Given the description of an element on the screen output the (x, y) to click on. 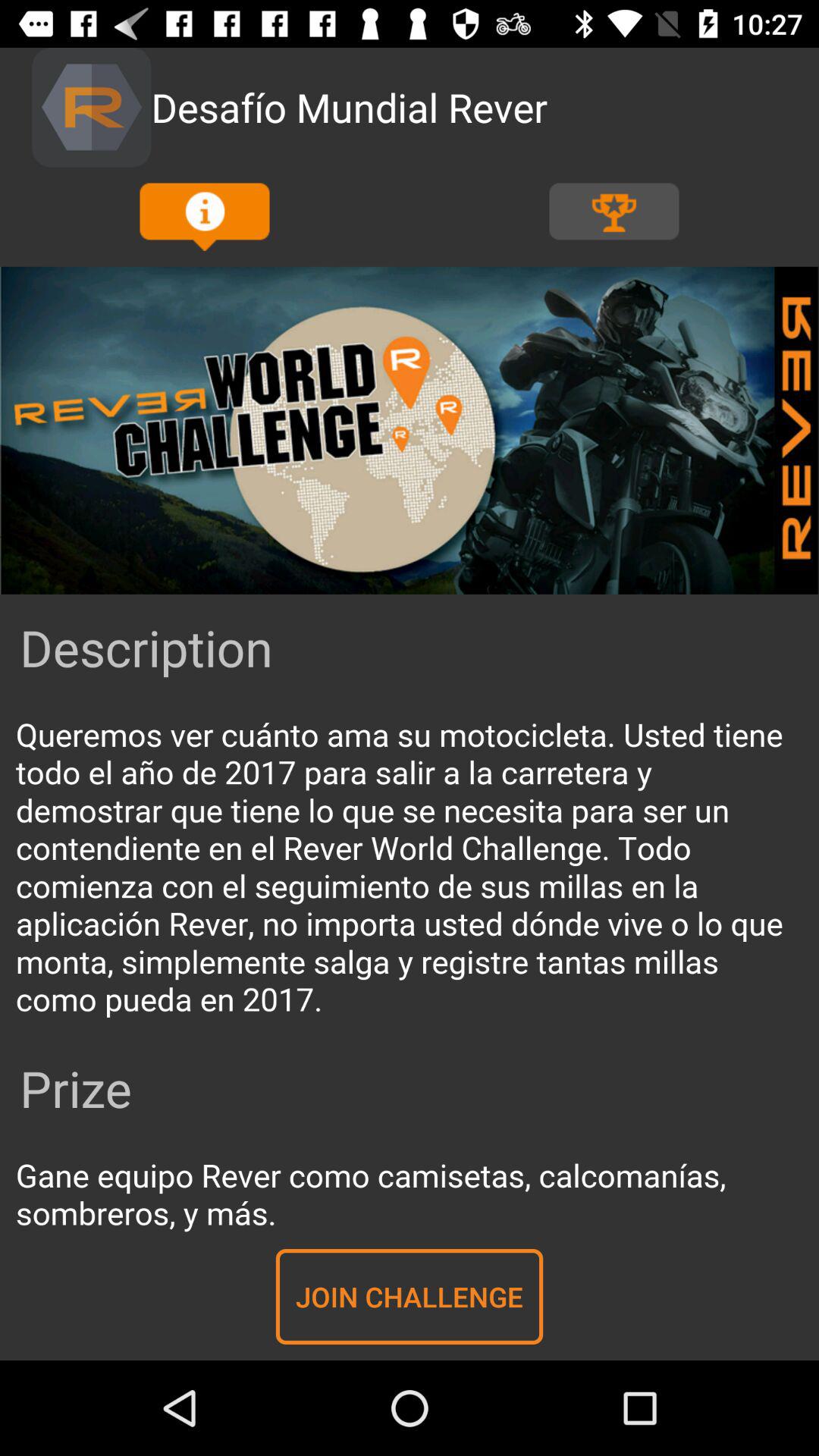
can use it in my motorcyle (409, 867)
